Given the description of an element on the screen output the (x, y) to click on. 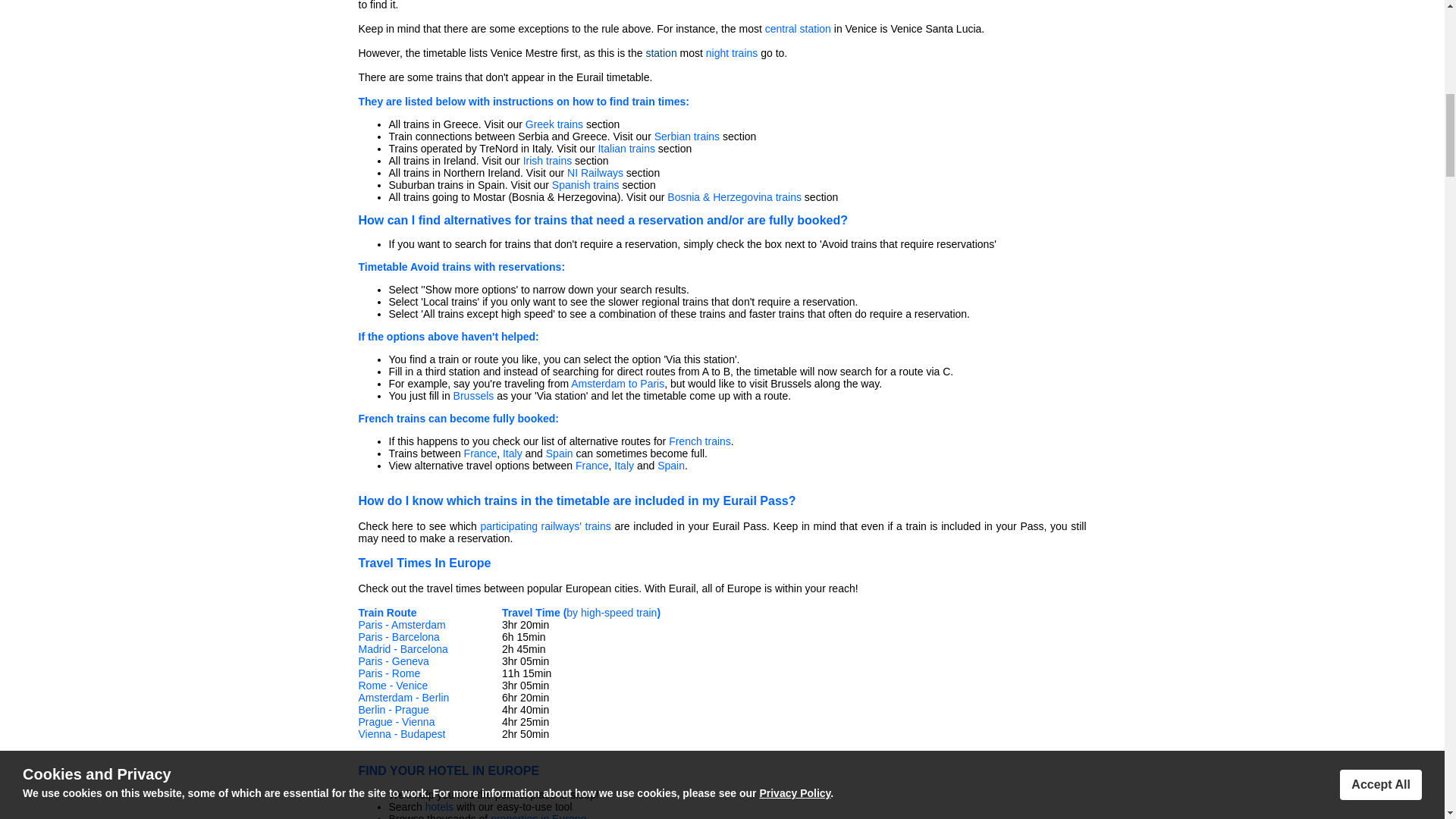
Serbian trains (686, 136)
Spanish trains (585, 184)
FIND YOUR HOTEL IN EUROPE (448, 770)
Paris - Rome (389, 673)
Italian trains (624, 148)
Spain (559, 453)
Paris - Amsterdam (401, 624)
Amsterdam - Berlin (403, 697)
participating railways' trains (545, 526)
French trains (699, 440)
